Given the description of an element on the screen output the (x, y) to click on. 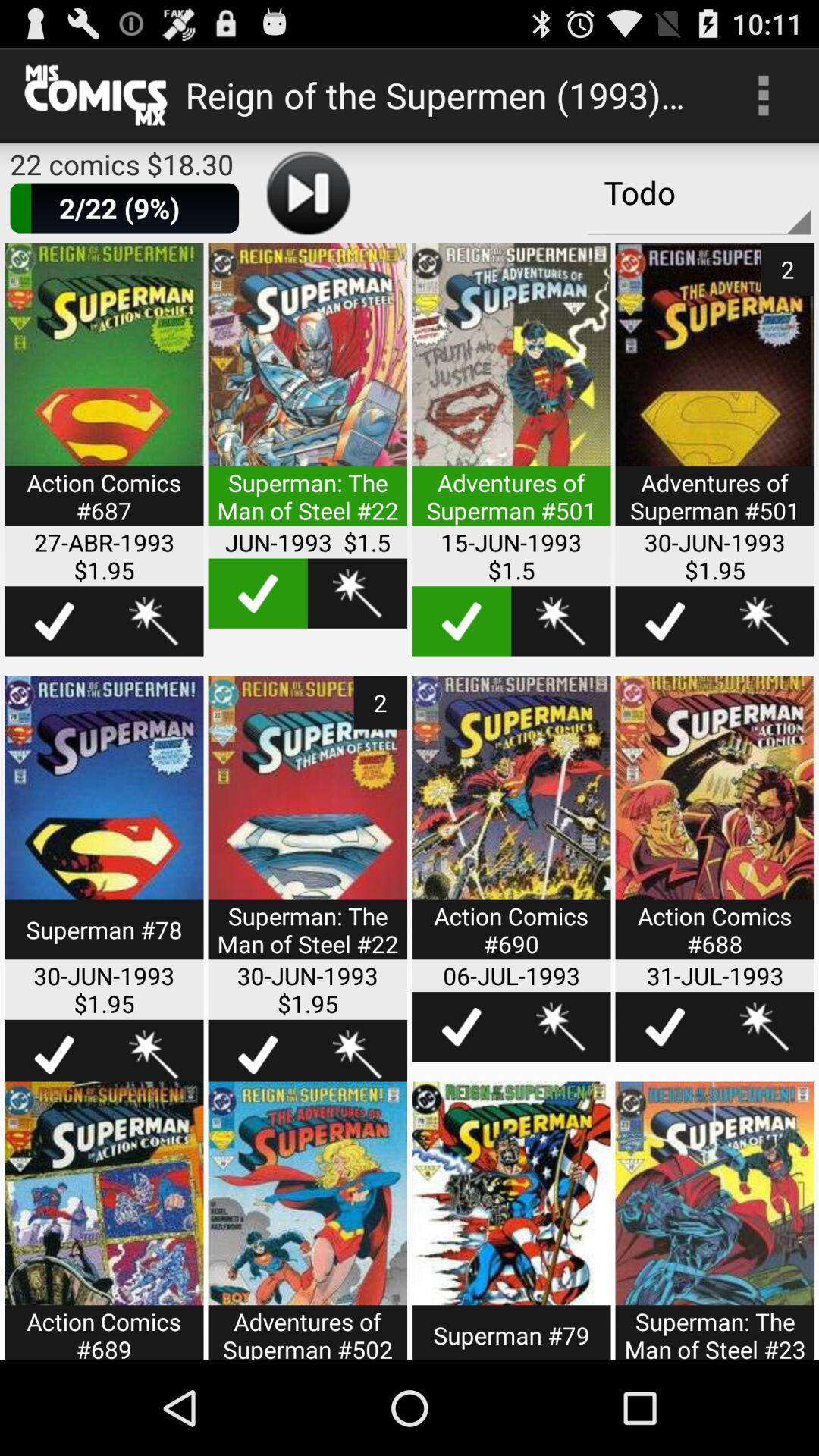
share the article (714, 827)
